Given the description of an element on the screen output the (x, y) to click on. 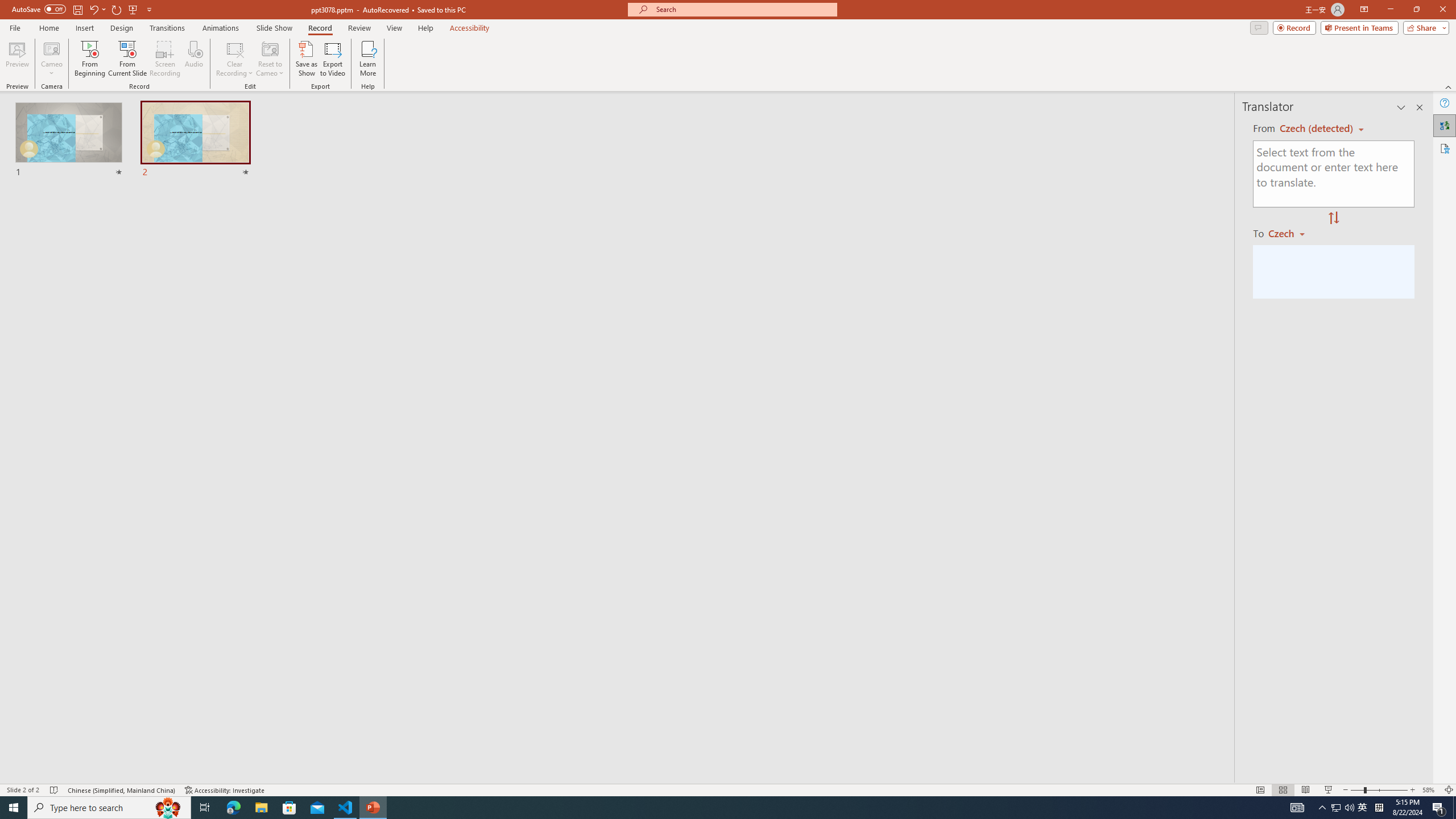
Czech (1291, 232)
Zoom 58% (1430, 790)
Czech (detected) (1317, 128)
